Given the description of an element on the screen output the (x, y) to click on. 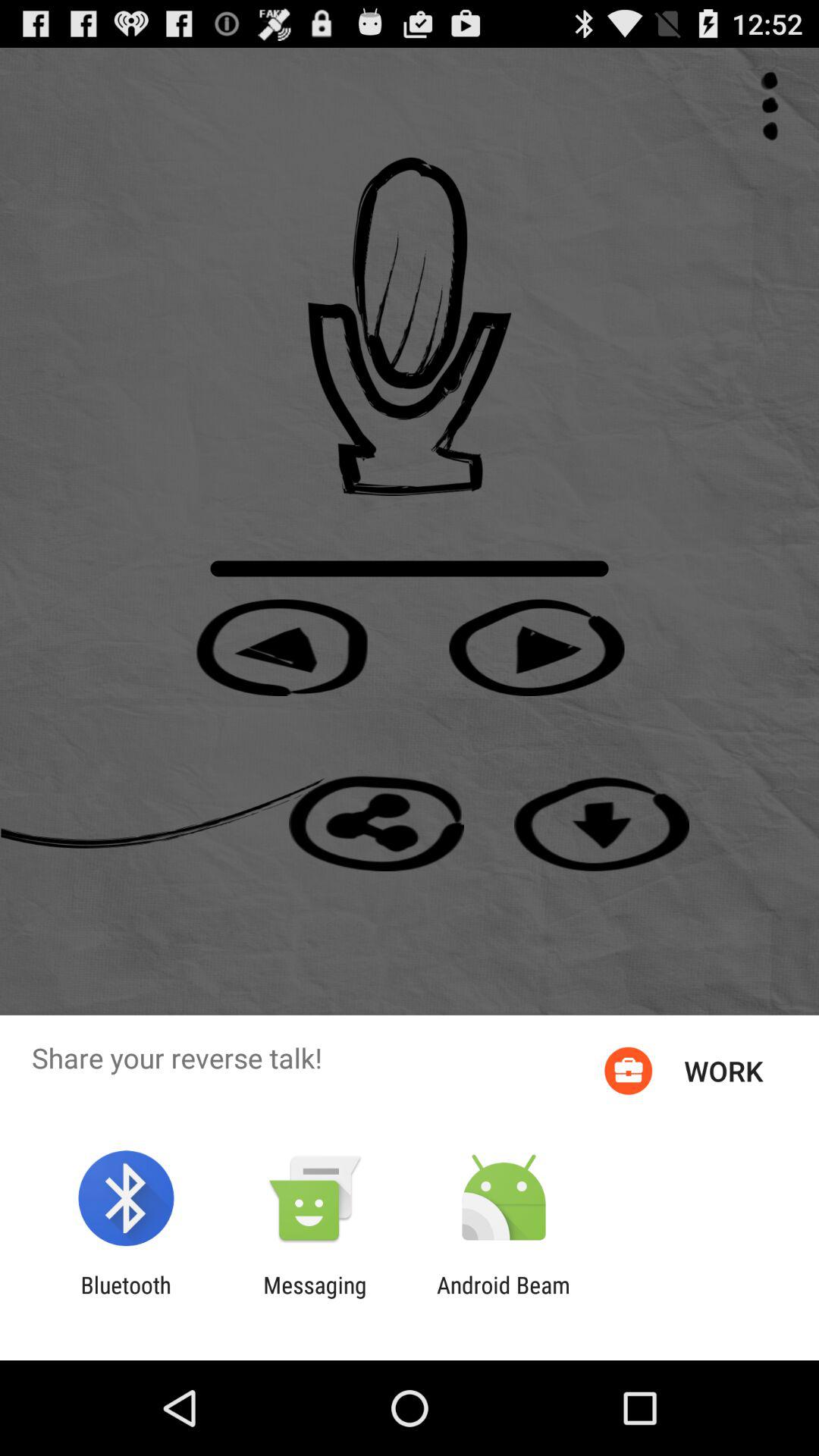
jump to the messaging (314, 1298)
